Given the description of an element on the screen output the (x, y) to click on. 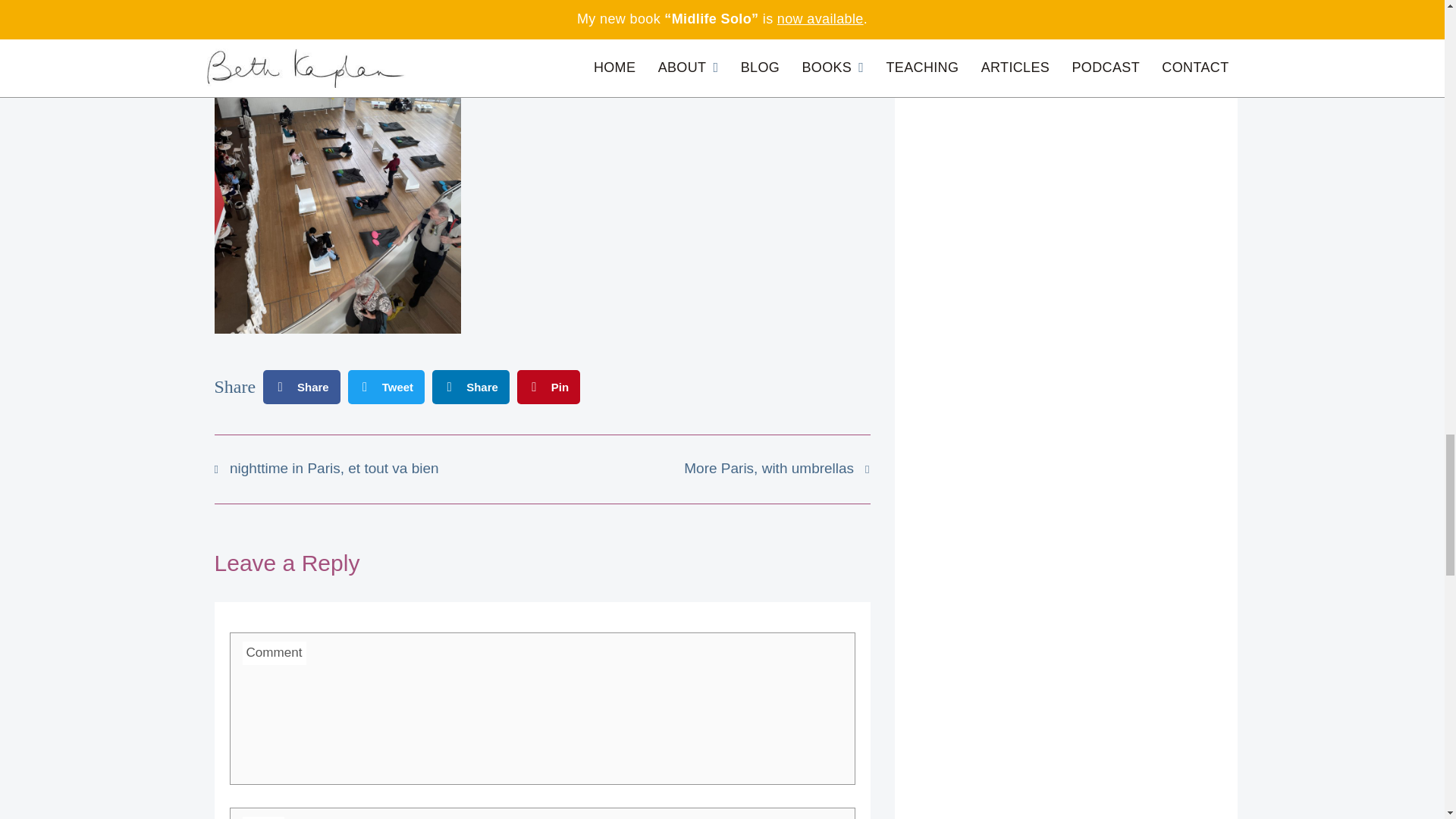
nighttime in Paris, et tout va bien (377, 468)
More Paris, with umbrellas (705, 468)
